Given the description of an element on the screen output the (x, y) to click on. 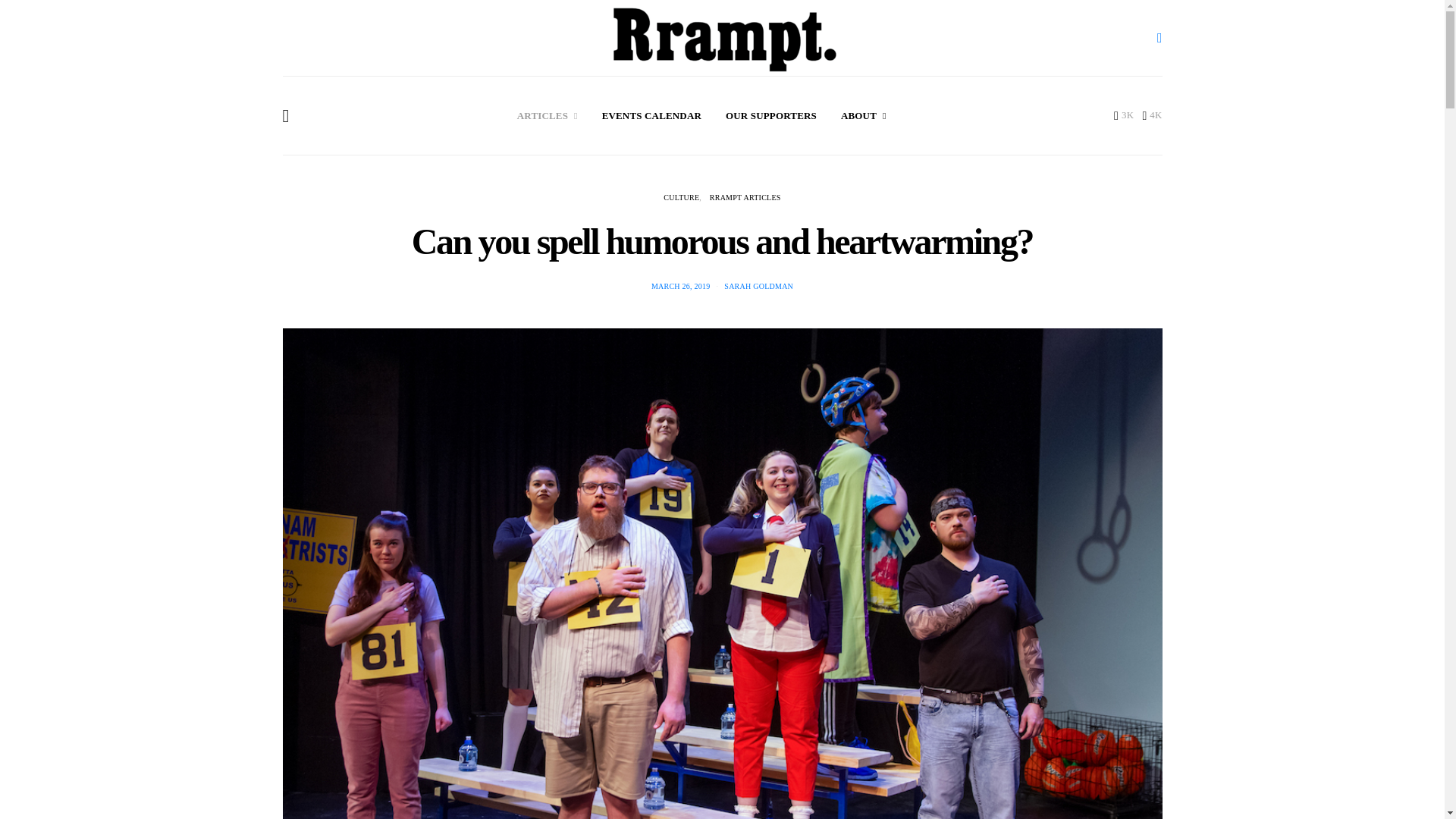
View all posts by Sarah Goldman (758, 285)
